Given the description of an element on the screen output the (x, y) to click on. 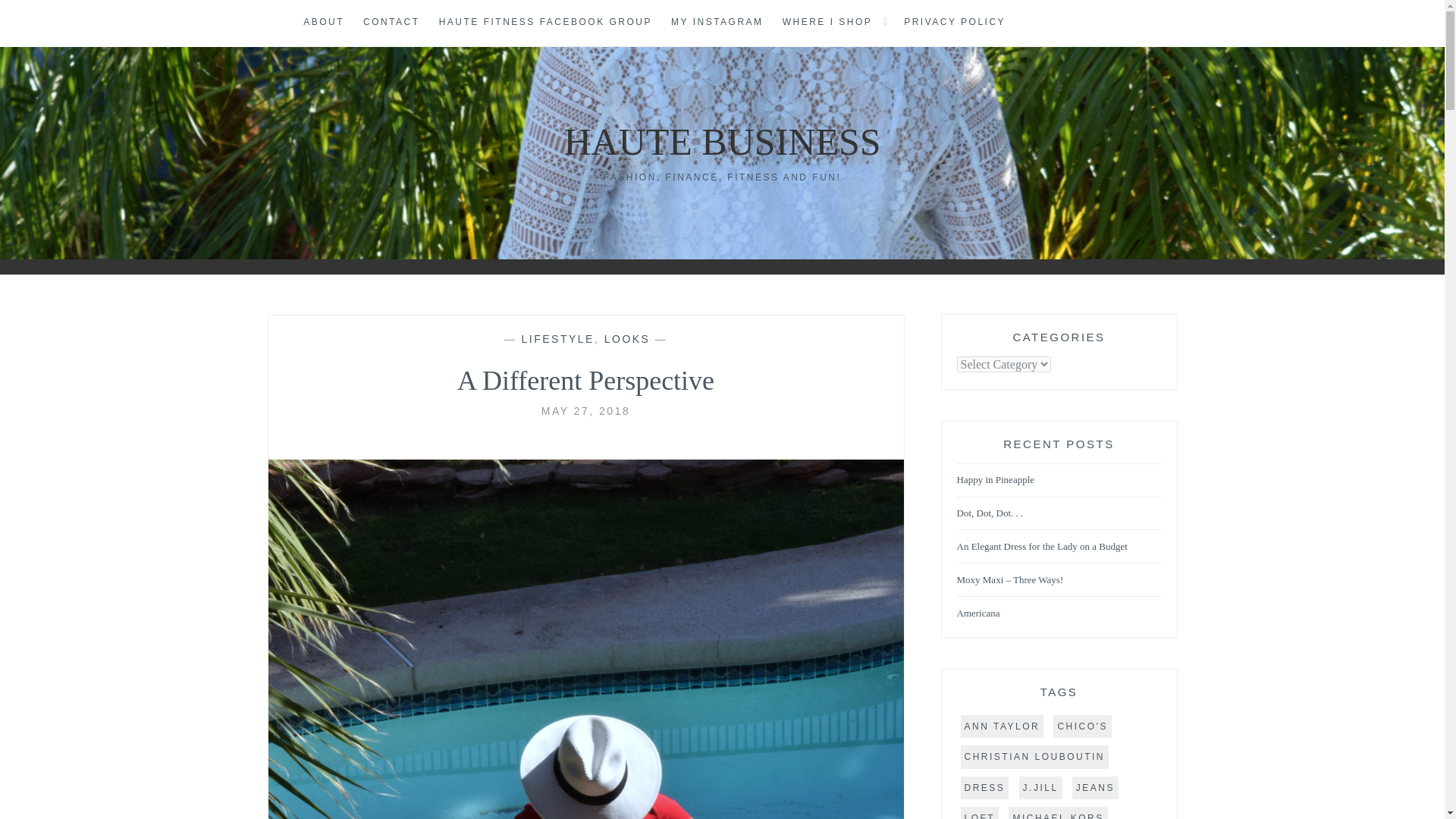
PRIVACY POLICY (955, 22)
MY INSTAGRAM (716, 22)
LOOKS (627, 338)
HAUTE FITNESS FACEBOOK GROUP (545, 22)
HAUTE BUSINESS (721, 141)
ABOUT (322, 22)
WHERE I SHOP (827, 22)
CONTACT (391, 22)
LIFESTYLE (557, 338)
